Given the description of an element on the screen output the (x, y) to click on. 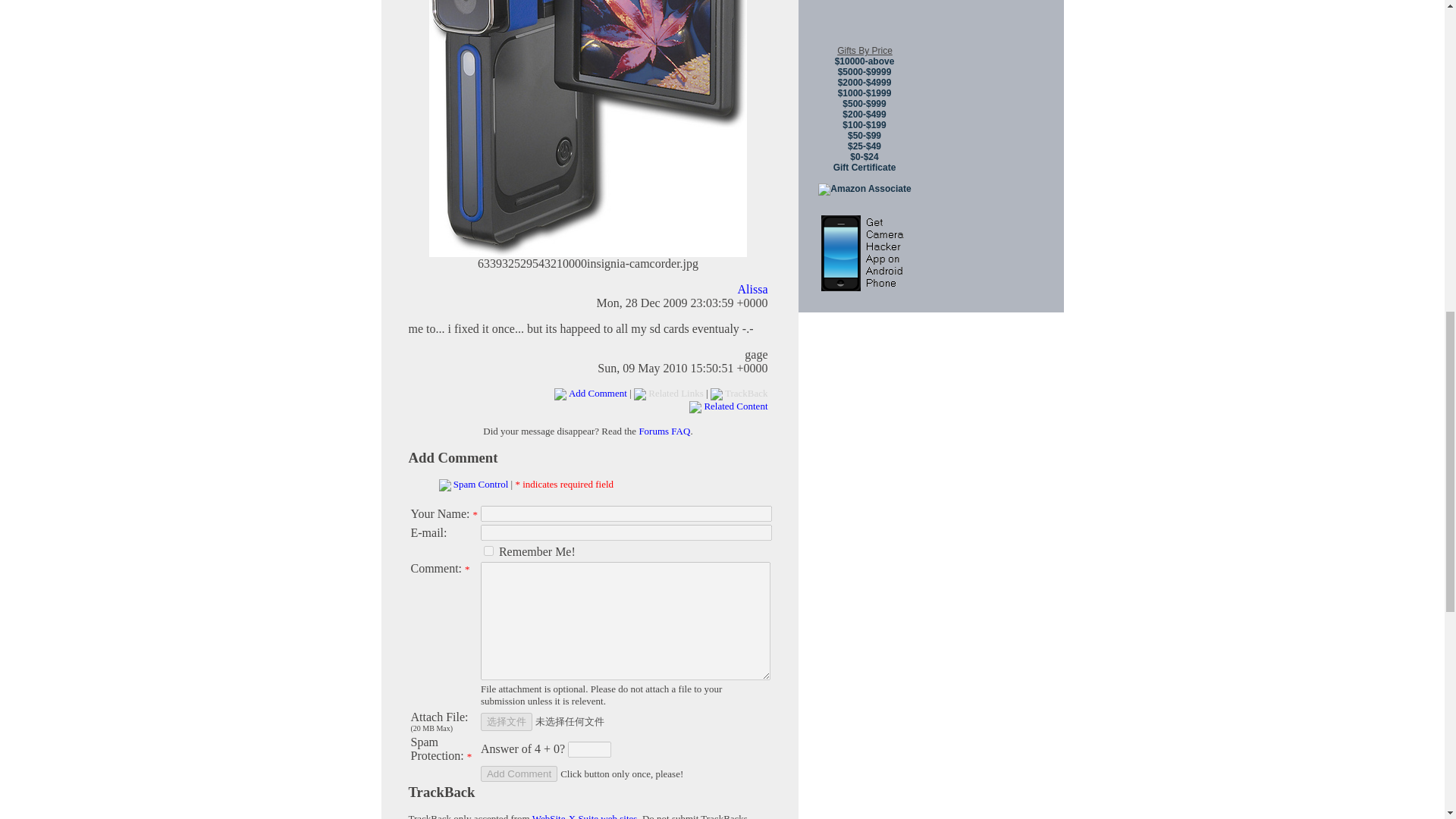
Alissa (751, 288)
Related Content (735, 405)
WebSite-X Suite web sites (584, 816)
Add Comment (452, 457)
Spam Control (480, 483)
yes (488, 551)
Forums FAQ (664, 430)
Add Comment (518, 773)
TrackBack (440, 791)
Add Comment (518, 773)
Add Comment (598, 392)
